Given the description of an element on the screen output the (x, y) to click on. 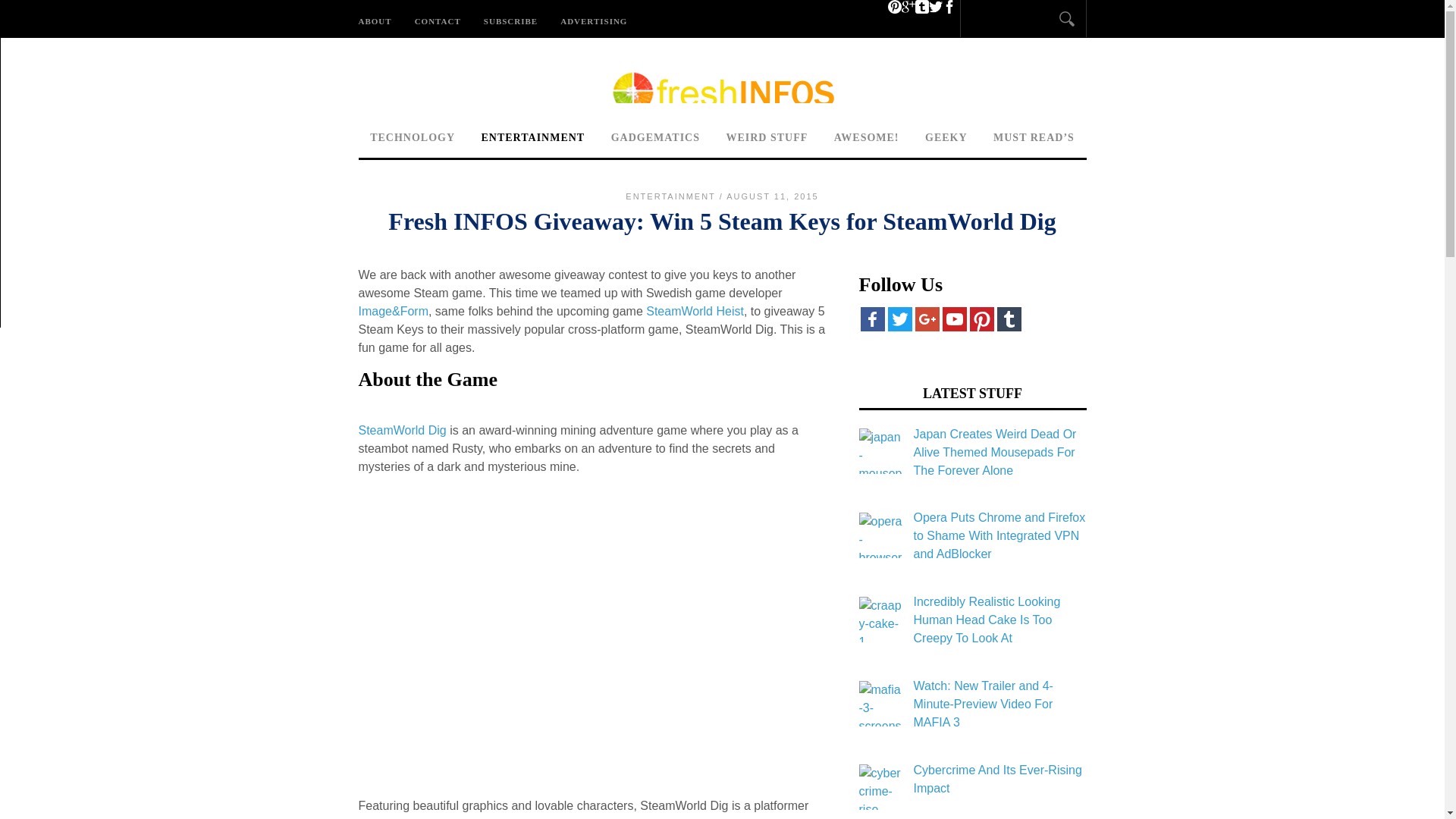
ENTERTAINMENT (533, 139)
ADVERTISING (593, 19)
Search... (1013, 22)
CONTACT (437, 19)
SUBSCRIBE (509, 19)
ABOUT (380, 19)
TECHNOLOGY (411, 139)
GEEKY (946, 139)
ENTERTAINMENT (670, 195)
WEIRD STUFF (766, 139)
